Given the description of an element on the screen output the (x, y) to click on. 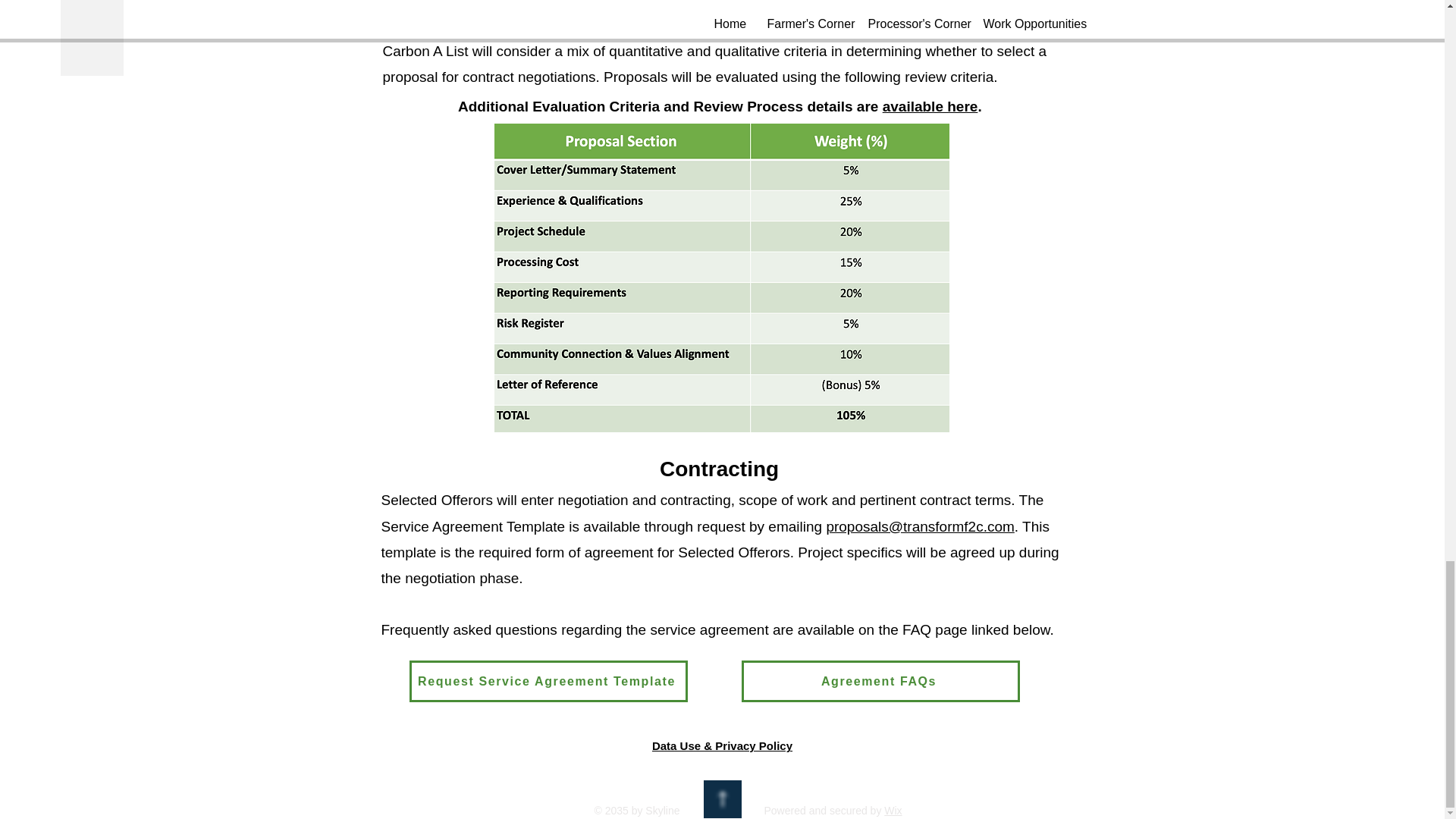
Wix (892, 810)
Agreement FAQs (880, 680)
available here (930, 106)
Request Service Agreement Template (548, 680)
